Given the description of an element on the screen output the (x, y) to click on. 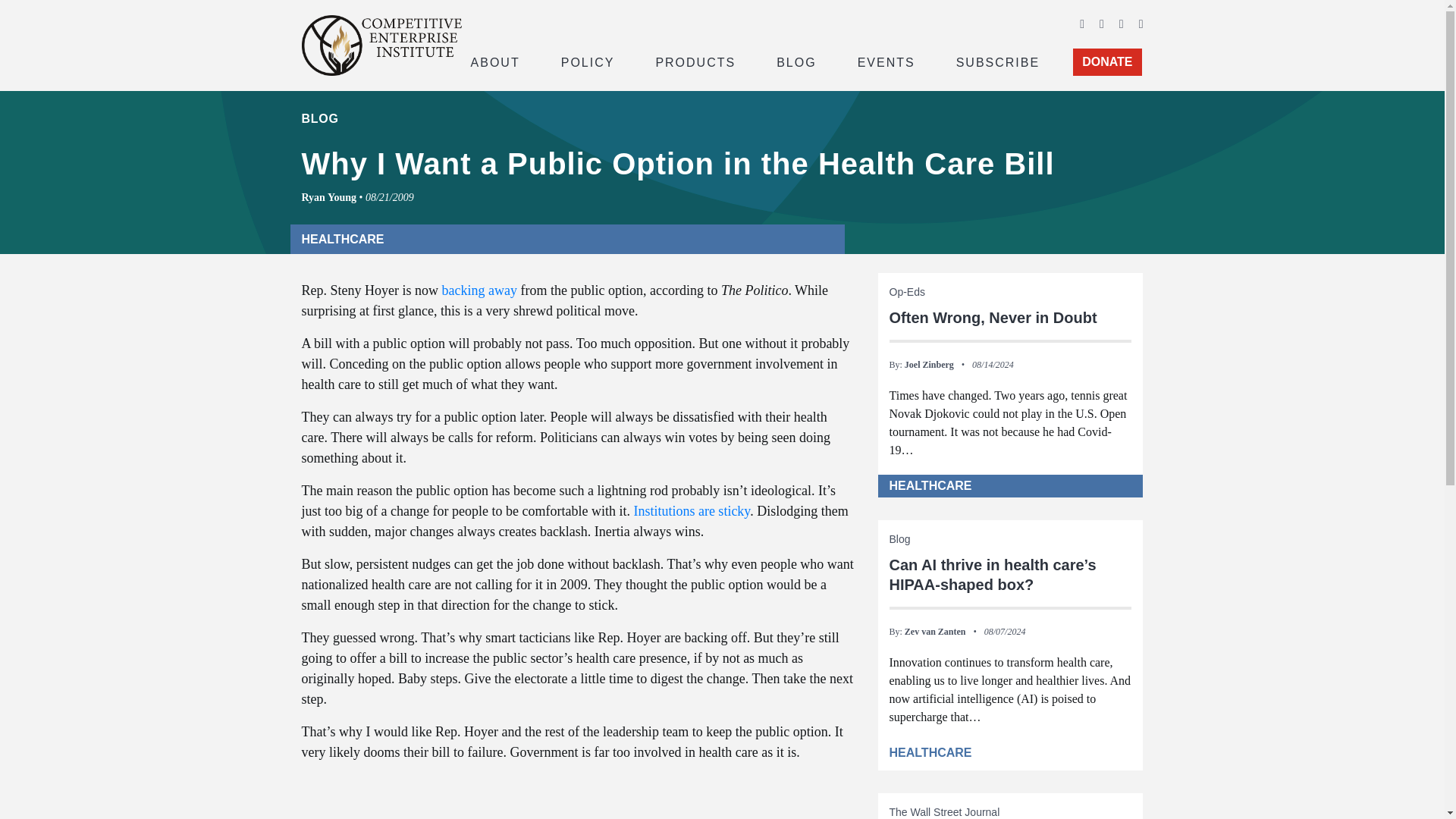
DONATE (1107, 62)
EVENTS (886, 61)
POLICY (588, 61)
ABOUT (495, 61)
PRODUCTS (694, 61)
SUBSCRIBE (997, 61)
BLOG (796, 61)
